Given the description of an element on the screen output the (x, y) to click on. 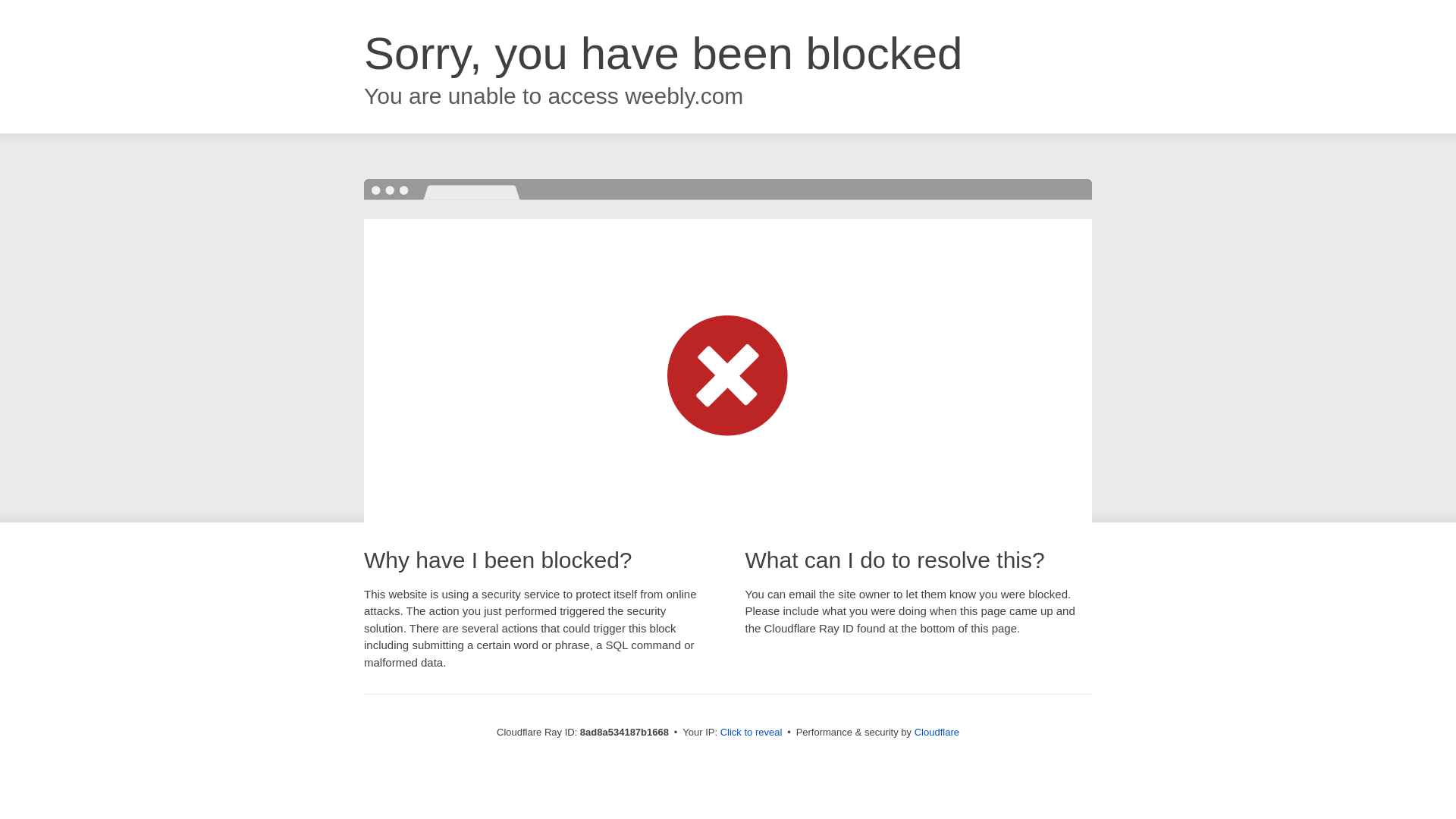
Click to reveal (751, 732)
Cloudflare (936, 731)
